Given the description of an element on the screen output the (x, y) to click on. 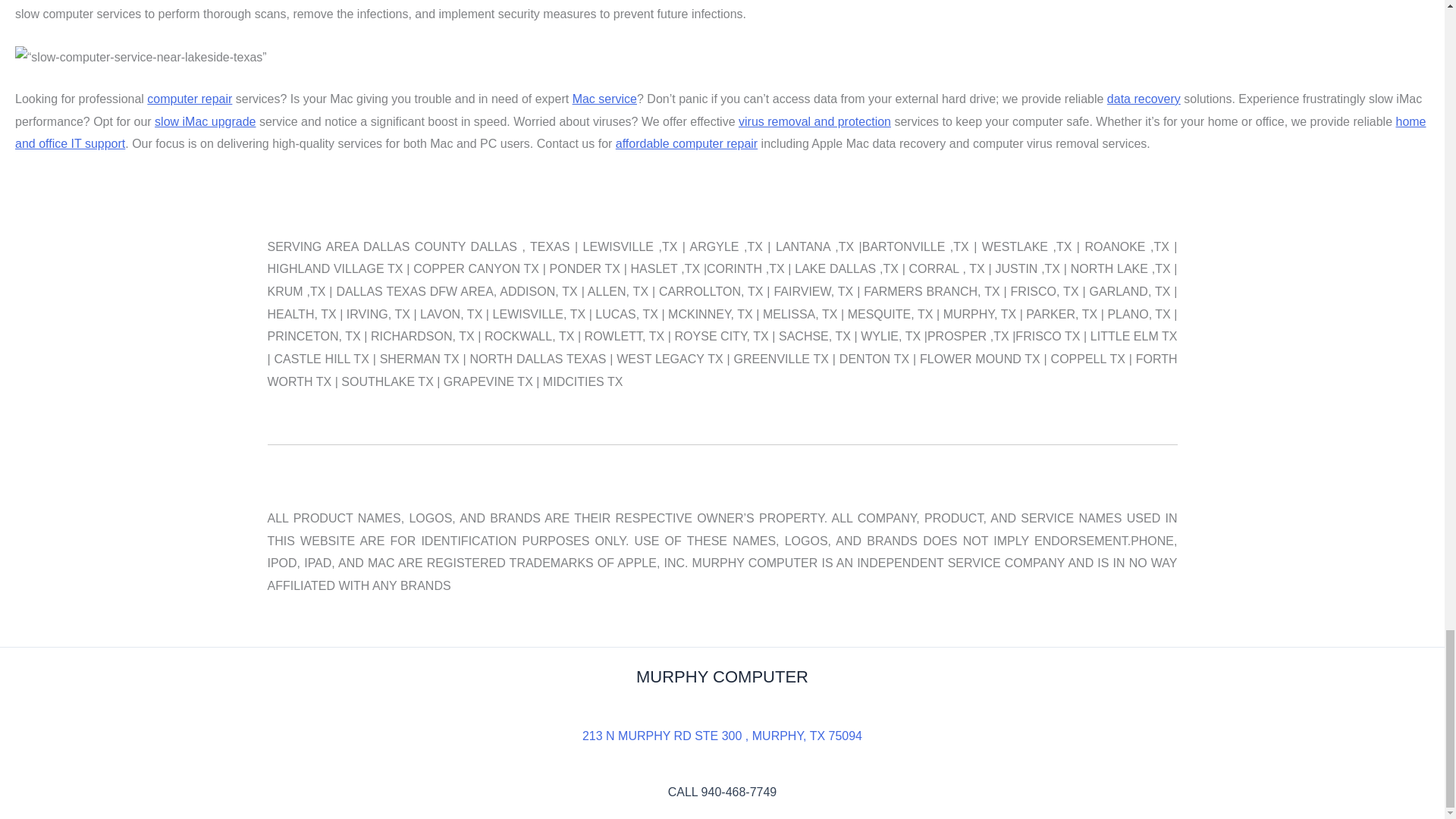
213 N MURPHY RD STE 300 , MURPHY, TX 75094 (721, 735)
slow iMac upgrade (205, 121)
computer repair (189, 98)
affordable computer repair (686, 143)
virus removal and protection (814, 121)
home and office IT support (720, 132)
data recovery (1143, 98)
Mac service (604, 98)
